Given the description of an element on the screen output the (x, y) to click on. 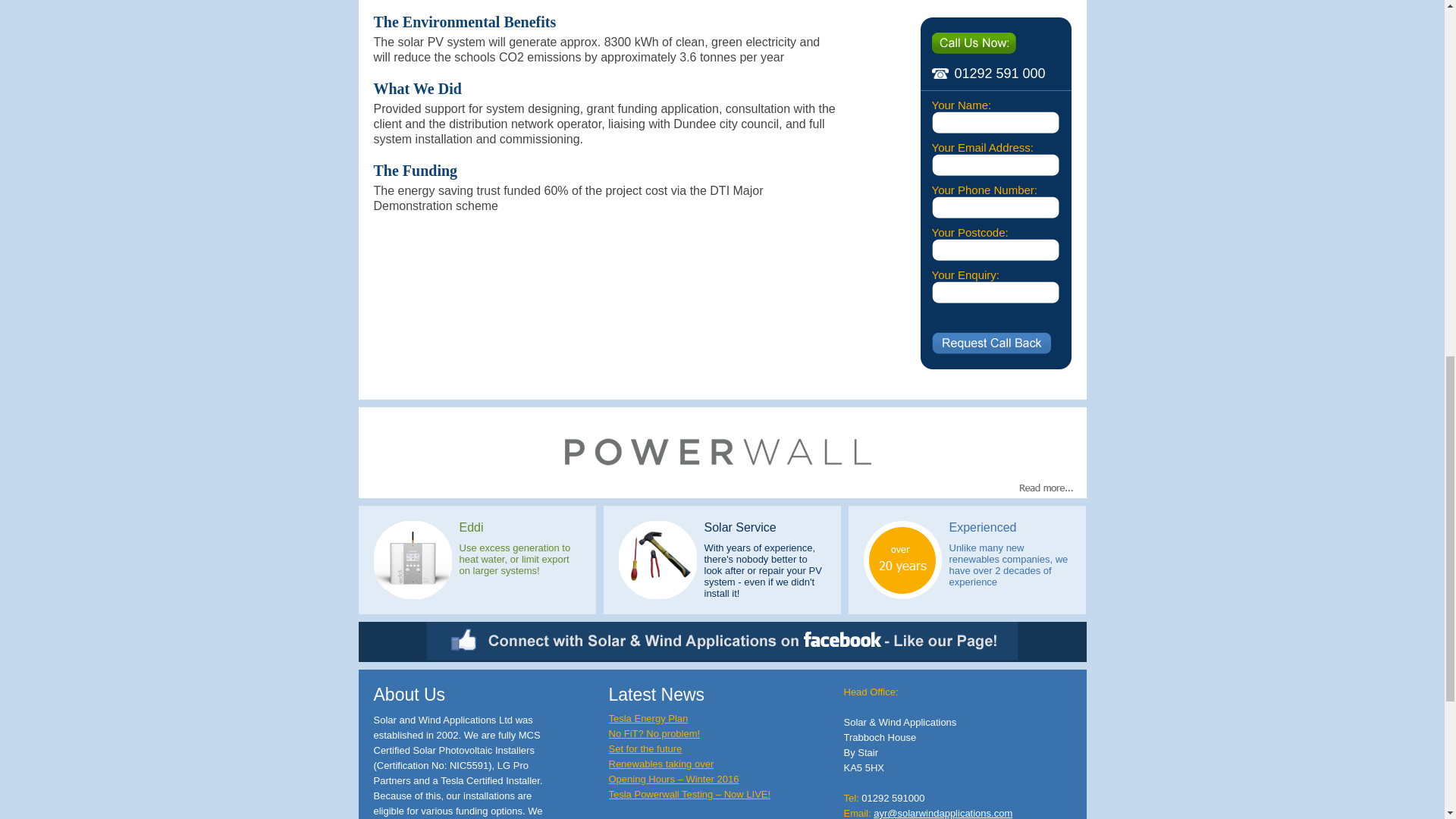
Submit (990, 342)
Submit (990, 342)
